Given the description of an element on the screen output the (x, y) to click on. 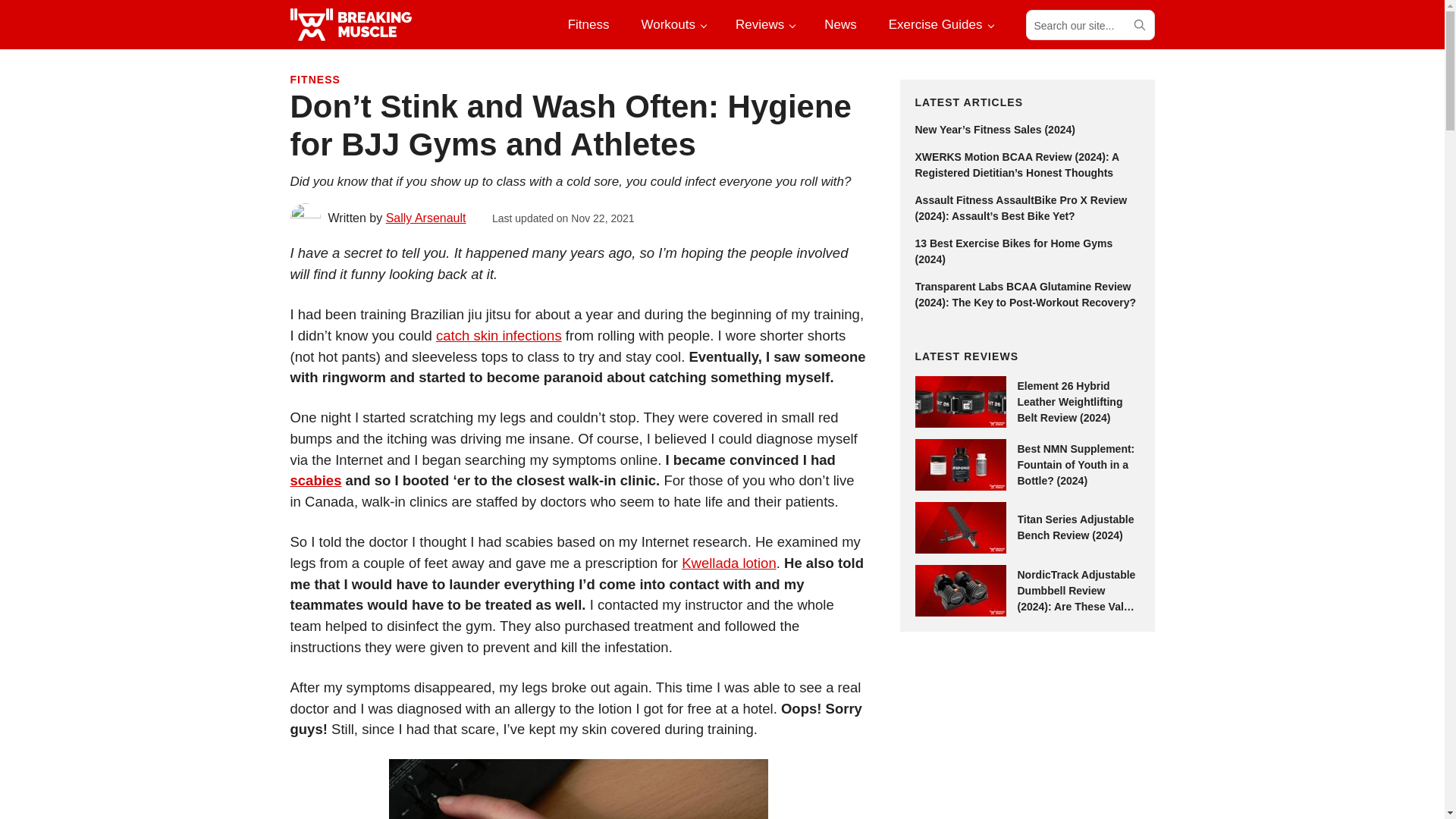
Workouts (672, 24)
Reviews (764, 24)
Fitness (588, 24)
Submit search (1138, 24)
Submit search (1138, 24)
